Given the description of an element on the screen output the (x, y) to click on. 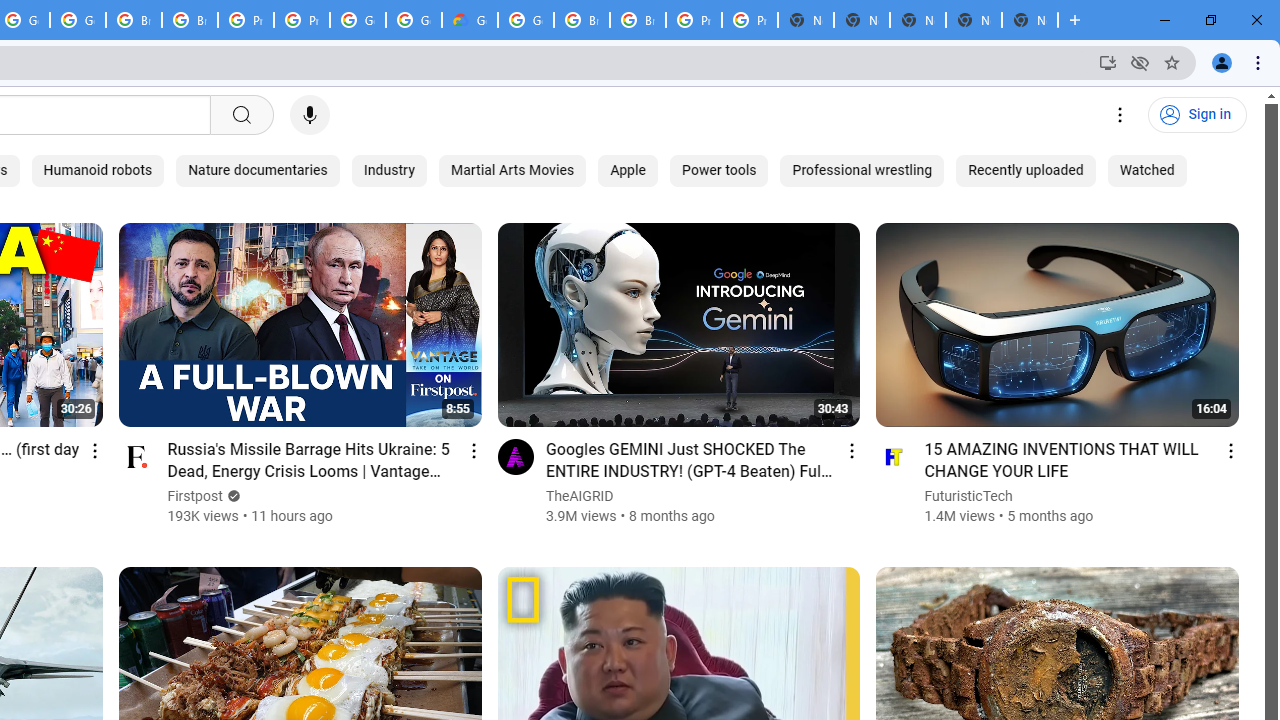
FuturisticTech (969, 496)
New Tab (1030, 20)
Google Cloud Platform (358, 20)
Recently uploaded (1025, 170)
Martial Arts Movies (512, 170)
Humanoid robots (97, 170)
Google Cloud Estimate Summary (469, 20)
Install YouTube (1107, 62)
